Given the description of an element on the screen output the (x, y) to click on. 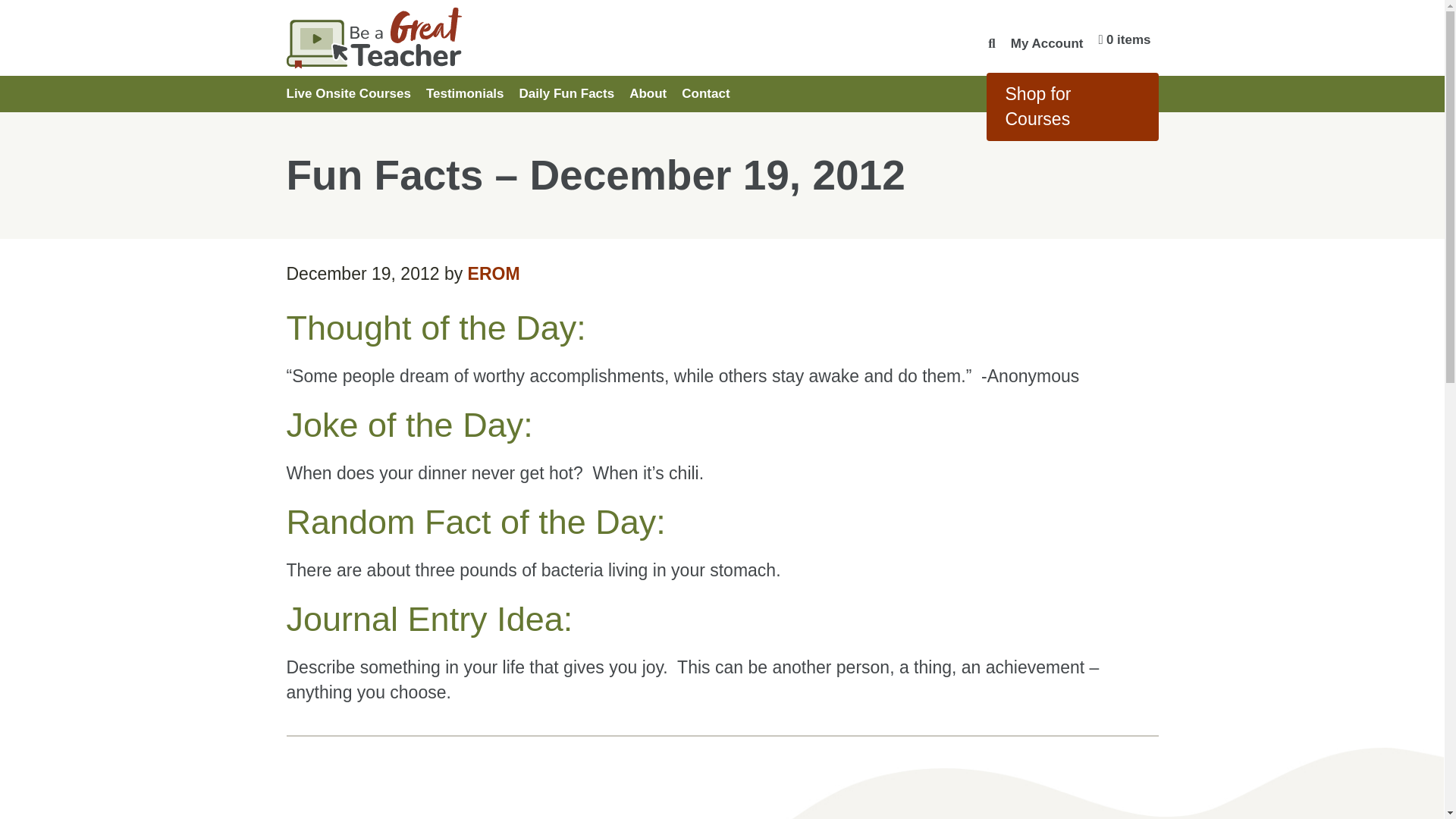
About (647, 93)
My Account (1046, 42)
Start shopping (1123, 39)
Shop for Courses (1071, 106)
Contact (705, 93)
Testimonials (465, 93)
Be a Great Teacher (466, 38)
Daily Fun Facts (567, 93)
EROM (493, 273)
0 items (1123, 39)
